Given the description of an element on the screen output the (x, y) to click on. 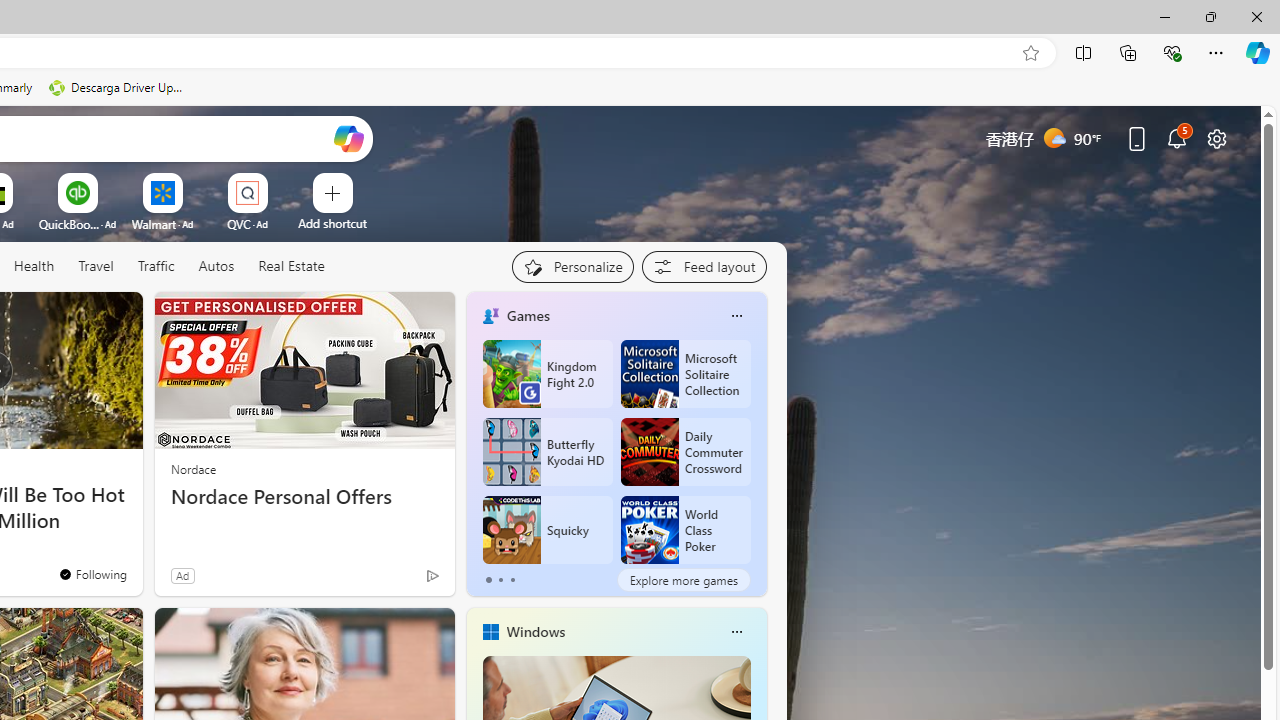
tab-1 (500, 579)
More options (736, 631)
Personalize your feed" (571, 266)
Settings and more (Alt+F) (1215, 52)
Health (34, 265)
Mostly sunny (1054, 137)
Traffic (155, 265)
Open Copilot (347, 138)
Class: icon-img (736, 632)
next (756, 443)
Class:   (290, 267)
Nordace Personal Offers (304, 497)
